Given the description of an element on the screen output the (x, y) to click on. 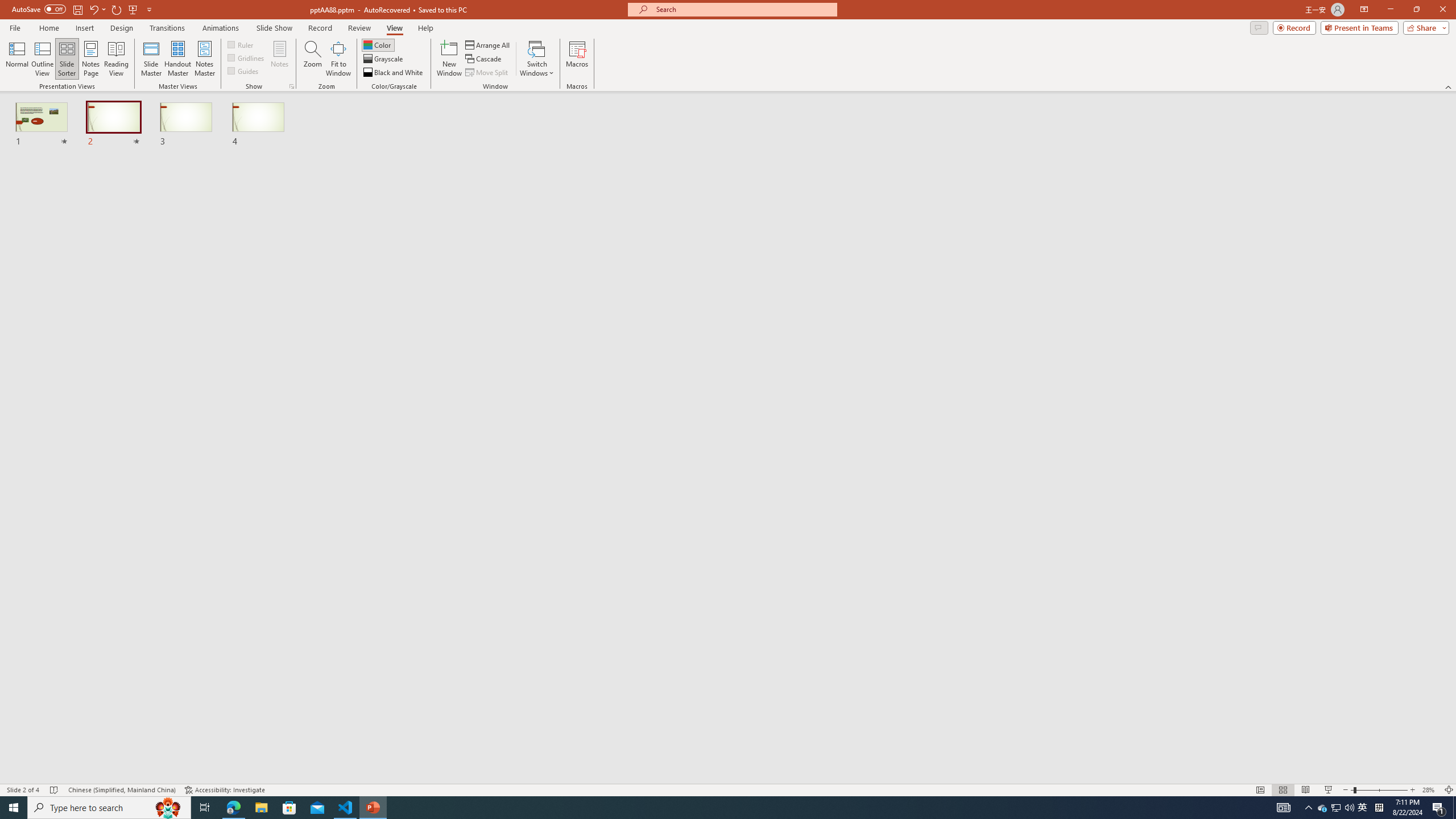
Cascade (484, 58)
Grayscale (383, 58)
Grid Settings... (291, 85)
Handout Master (177, 58)
Gridlines (246, 56)
